Given the description of an element on the screen output the (x, y) to click on. 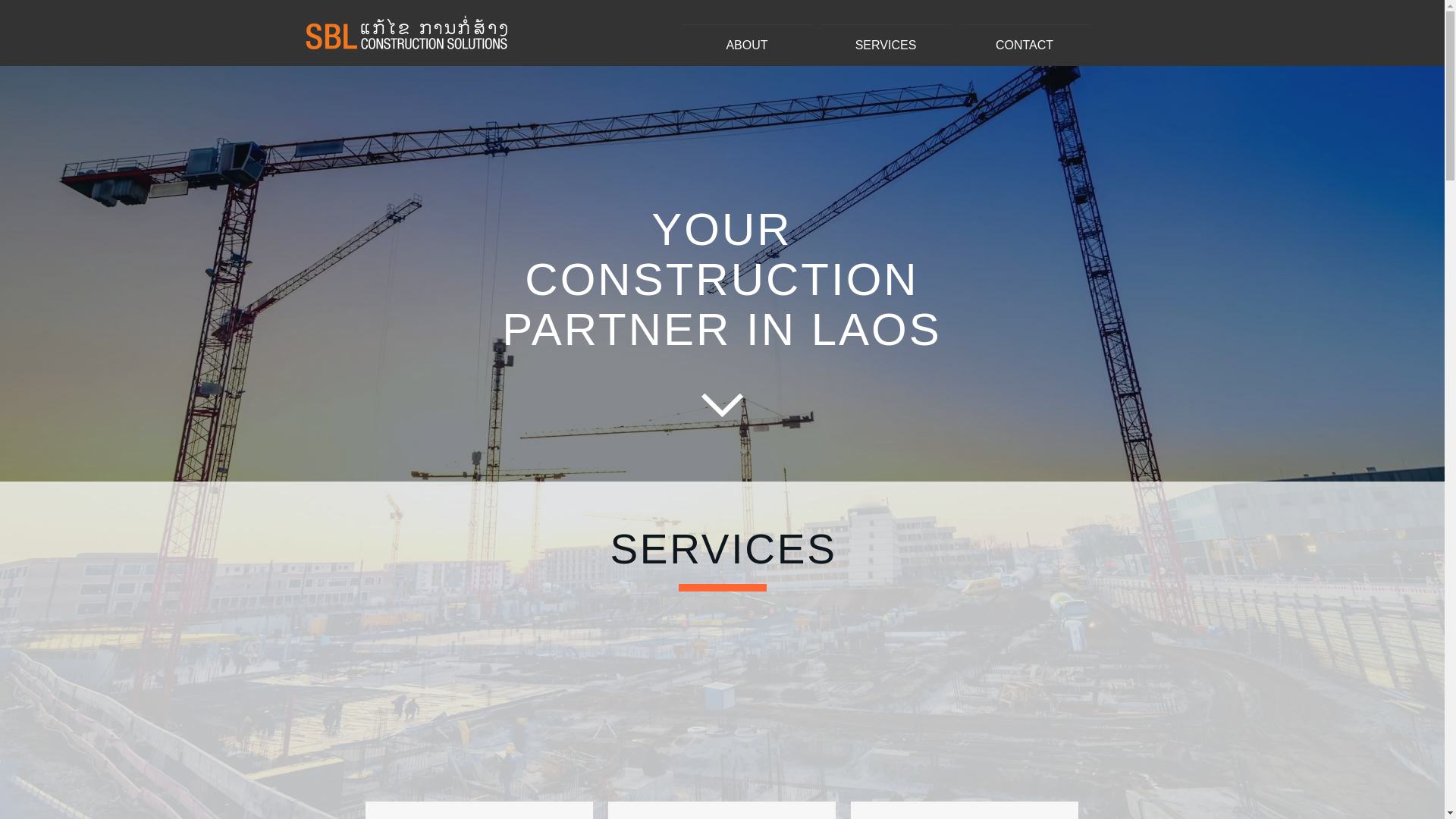
CONTACT (1024, 38)
SERVICES (885, 38)
ABOUT (747, 38)
